Given the description of an element on the screen output the (x, y) to click on. 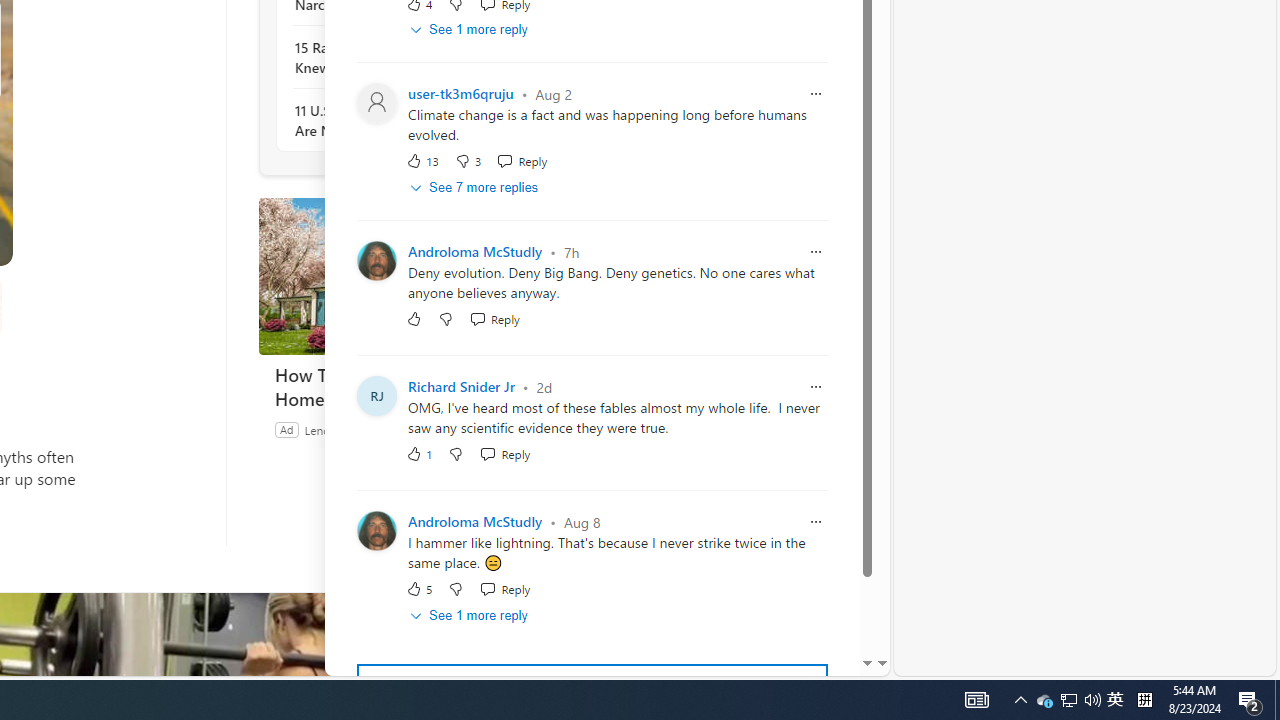
Like (414, 318)
5 Like (419, 588)
See more comments (592, 687)
11 U.S. Cities Where Home Prices Are Not Worth the Cost (403, 120)
Reply Reply Comment (505, 588)
See 1 more reply (470, 615)
13 Like (422, 161)
Profile Picture (376, 531)
15 Rare Dog Breeds You Never Knew Existed (403, 57)
